Given the description of an element on the screen output the (x, y) to click on. 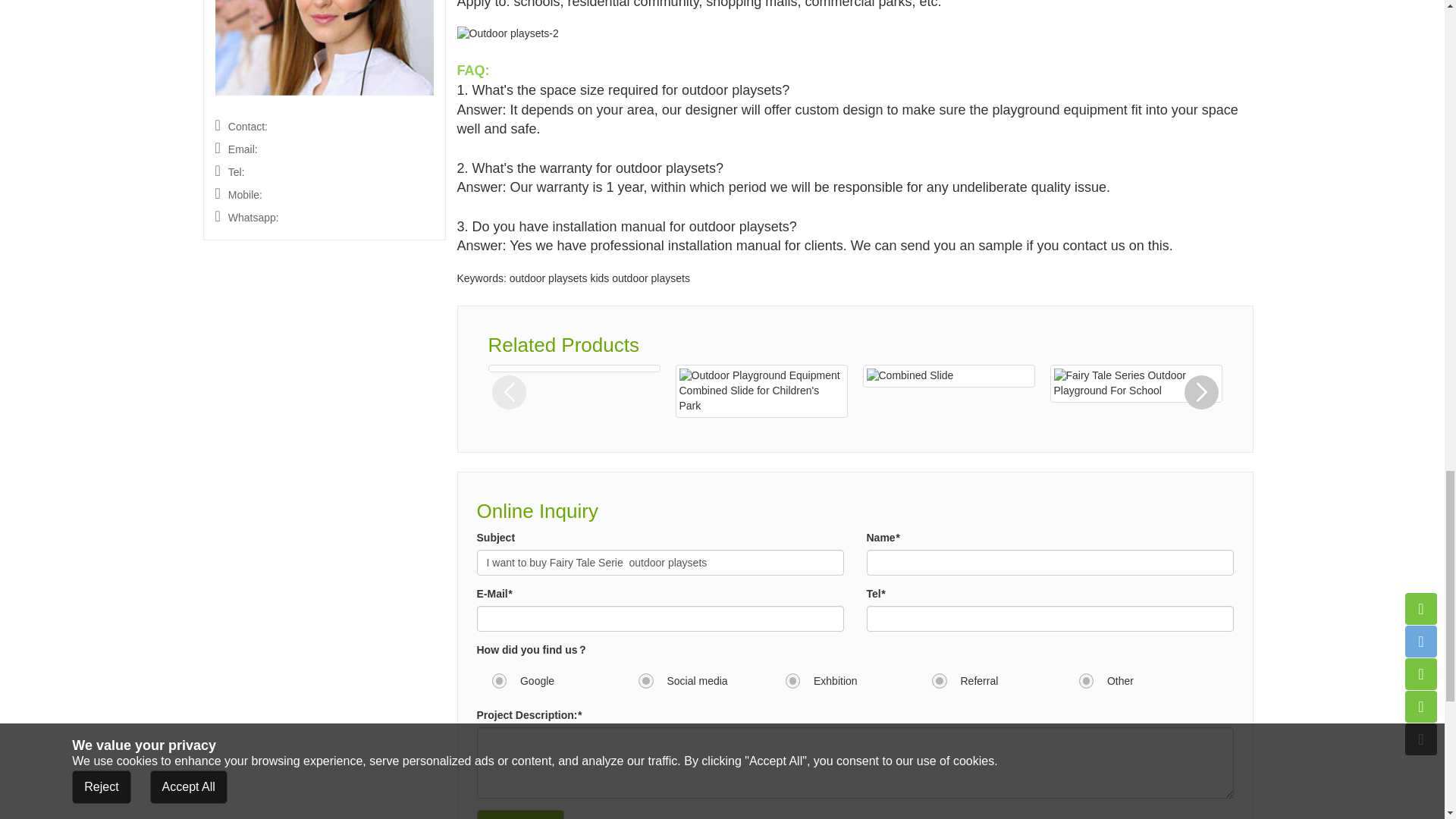
I want to buy Fairy Tale Serie  outdoor playsets (659, 562)
